Given the description of an element on the screen output the (x, y) to click on. 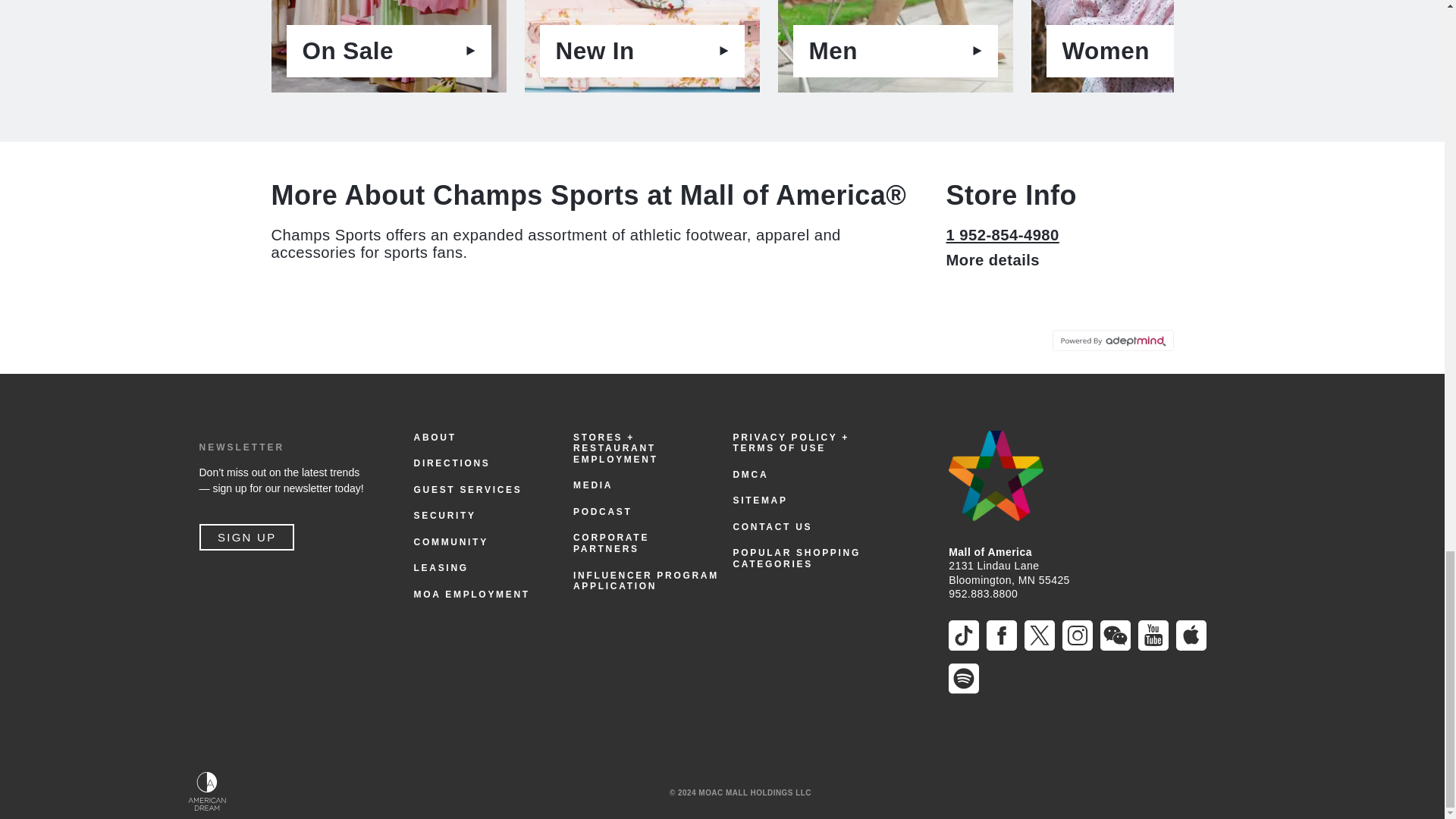
MoA-Social-Media-Instagram (721, 55)
MoA-Social-Media-WeChat (1077, 634)
MoA-Social-Media-You-Tube (721, 55)
MoA-Social-Media-Facebook (1115, 634)
MoA-Social-Media-Twitter (1153, 634)
